Given the description of an element on the screen output the (x, y) to click on. 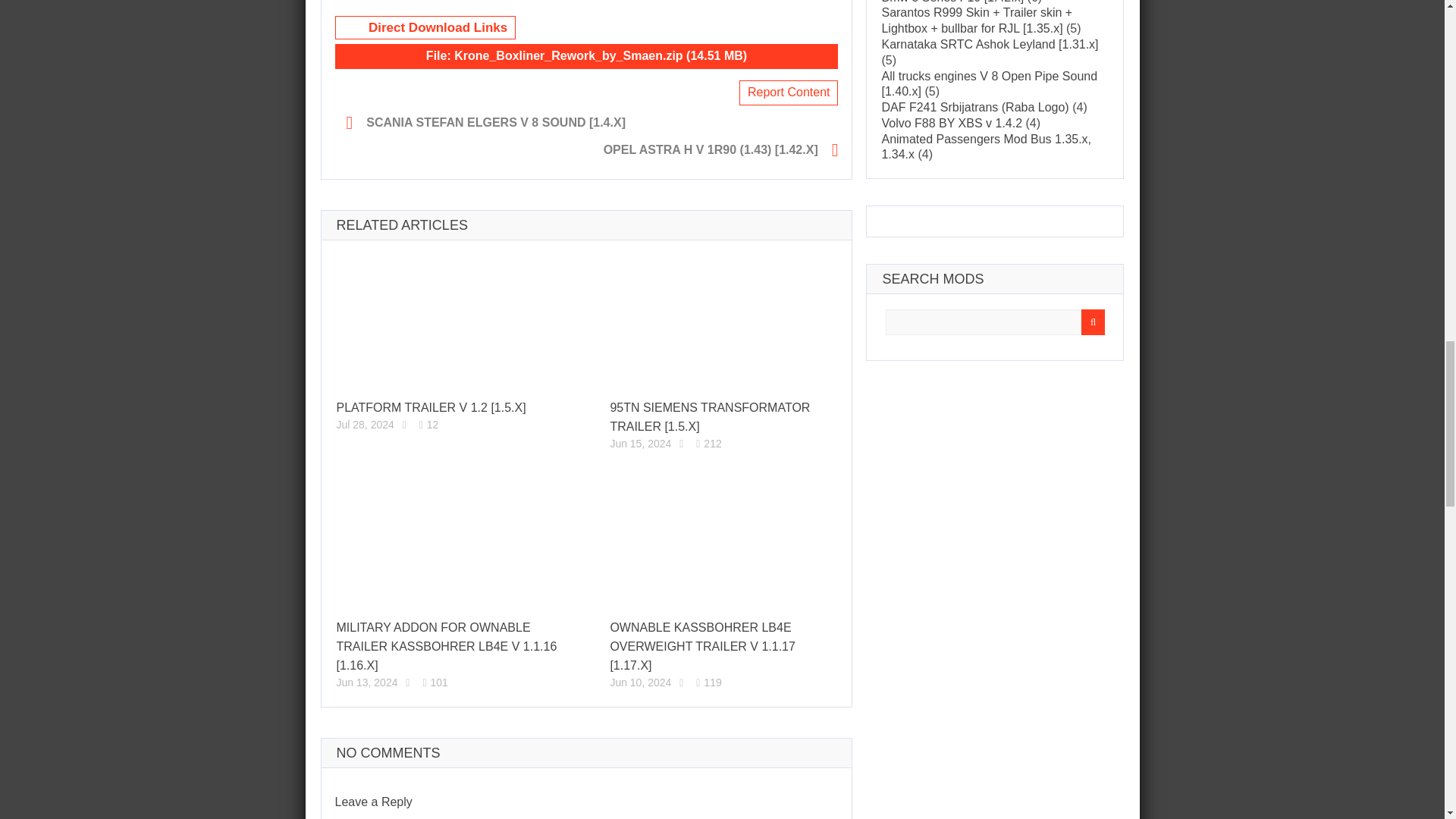
Report Content (788, 92)
download file (586, 56)
Recommend this (404, 425)
